Given the description of an element on the screen output the (x, y) to click on. 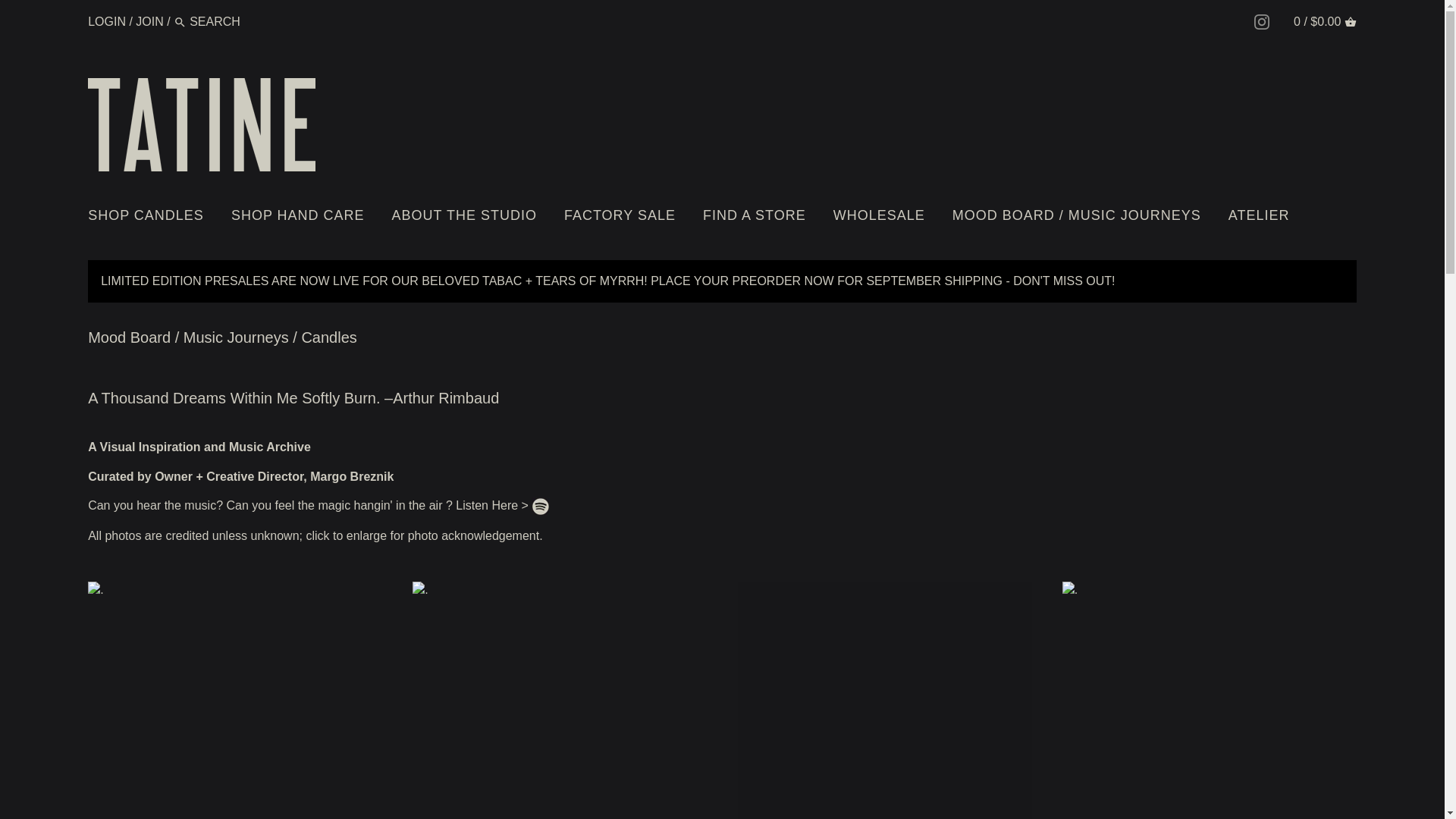
INSTAGRAM (1261, 21)
SHOP HAND CARE (297, 218)
CART (1349, 21)
JOIN (149, 21)
WHOLESALE (879, 218)
SHOP CANDLES (151, 218)
SEARCH (179, 21)
LOGIN (106, 21)
FIND A STORE (753, 218)
ABOUT THE STUDIO (464, 218)
